Given the description of an element on the screen output the (x, y) to click on. 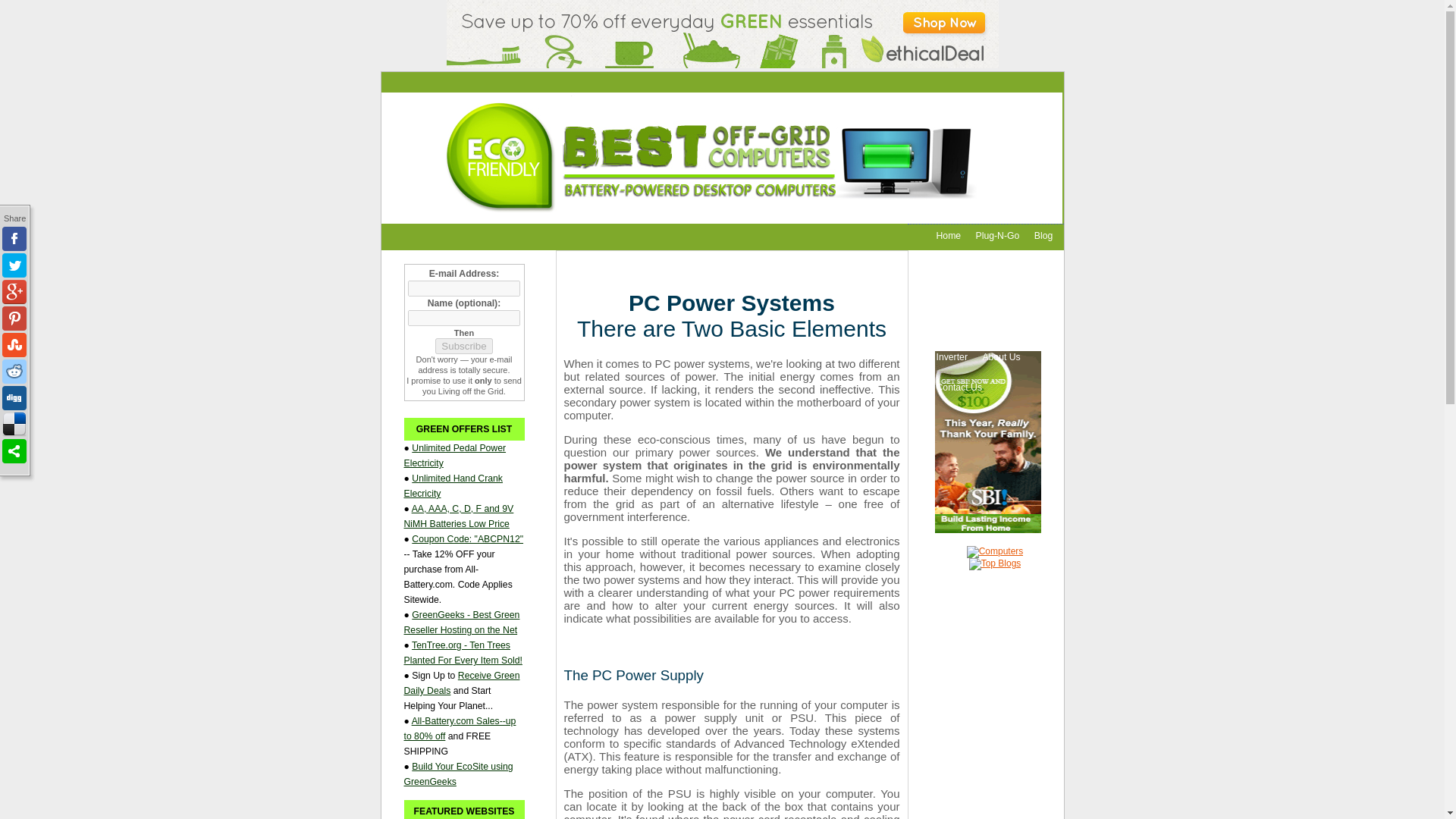
Blog (1043, 235)
Home (948, 235)
Plug-N-Go (997, 235)
Unlimited Pedal Power Electricity (454, 455)
Living Off the Grid (973, 265)
AA, AAA, C, D, F and 9V NiMH Batteries Low Price (458, 516)
The Switching Power of 12-volt Batteries (977, 326)
Living Off the Grid (973, 265)
Battery and Charger (977, 326)
Blog (1043, 235)
TenTree.org - Ten Trees Planted For Every Item Sold! (462, 652)
Want to Know How Computer Power Supplies Work? (964, 296)
GreenGeeks - Best Green Reseller Hosting on the Net (461, 622)
Subscribe (463, 345)
About Us (1000, 356)
